Given the description of an element on the screen output the (x, y) to click on. 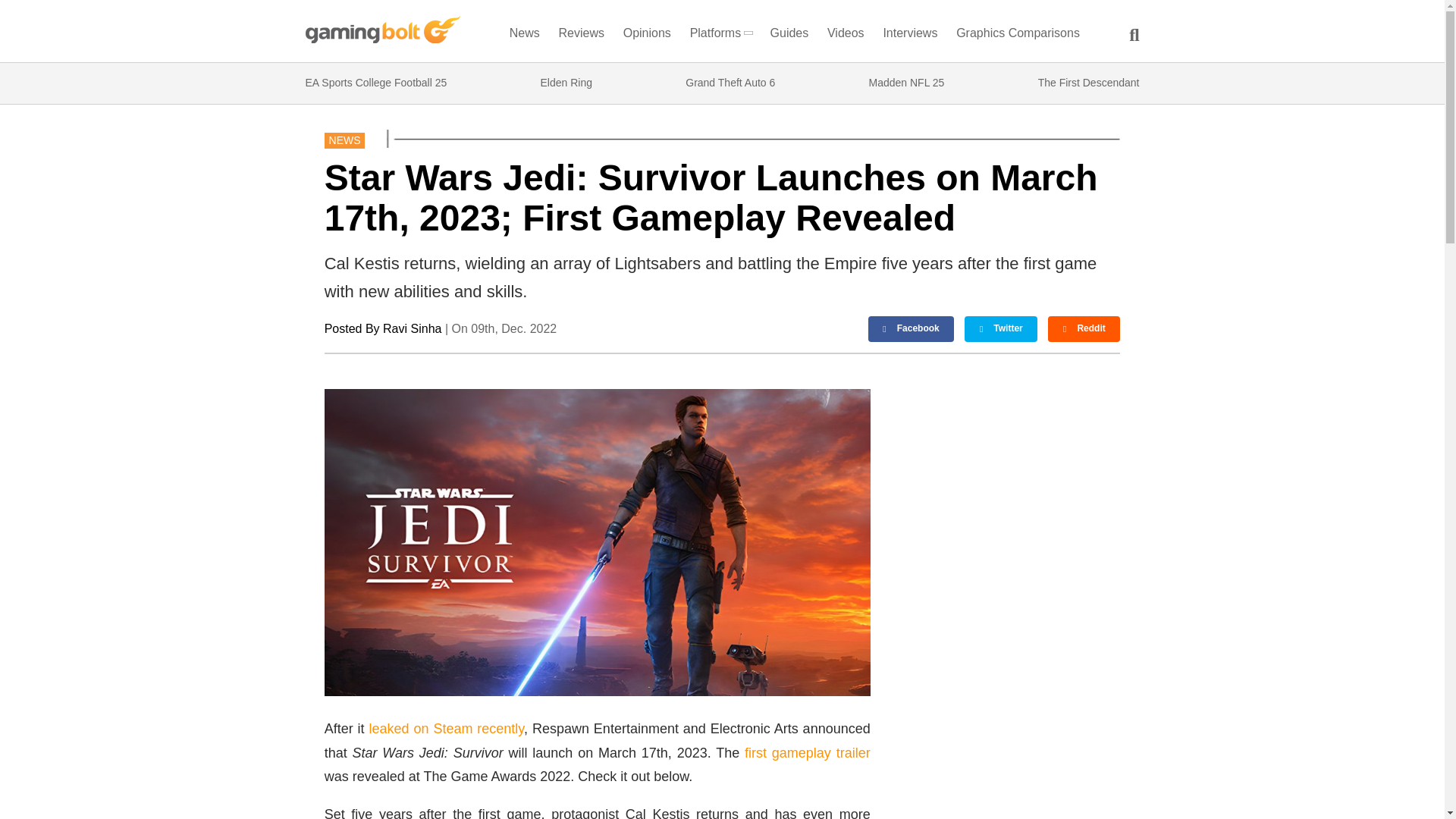
EA Sports College Football 25 (375, 82)
Guides (789, 36)
Facebook (911, 329)
Platforms (720, 36)
leaked on Steam recently (446, 728)
Madden NFL 25 (906, 82)
Grand Theft Auto 6 (729, 82)
Elden Ring (566, 82)
Reddit (1083, 329)
Twitter (999, 329)
Ravi Sinha (411, 328)
Reviews (581, 36)
Interviews (909, 36)
Videos (845, 36)
NEWS (345, 140)
